Given the description of an element on the screen output the (x, y) to click on. 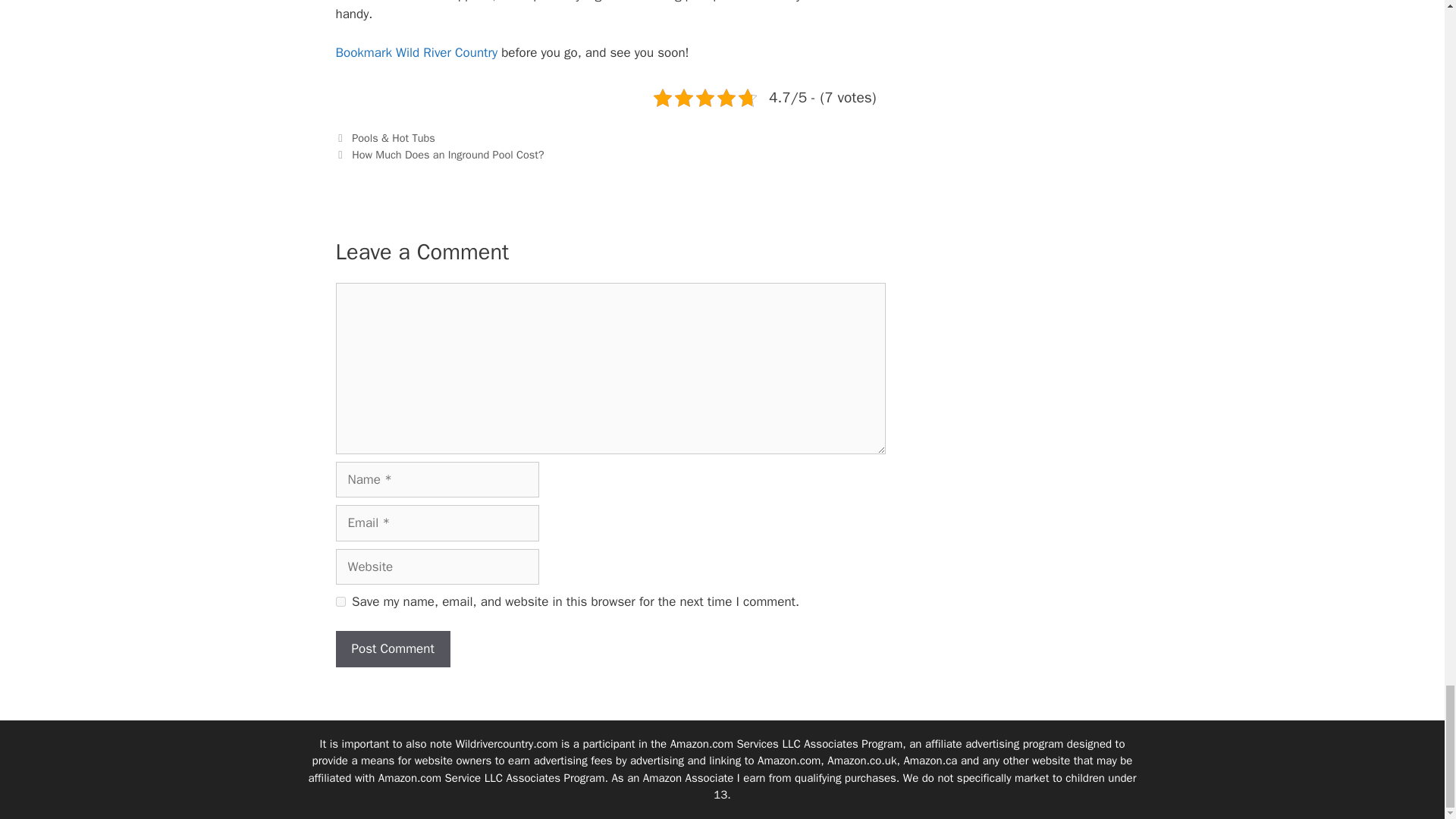
Post Comment (391, 648)
Next (438, 154)
yes (339, 601)
